Given the description of an element on the screen output the (x, y) to click on. 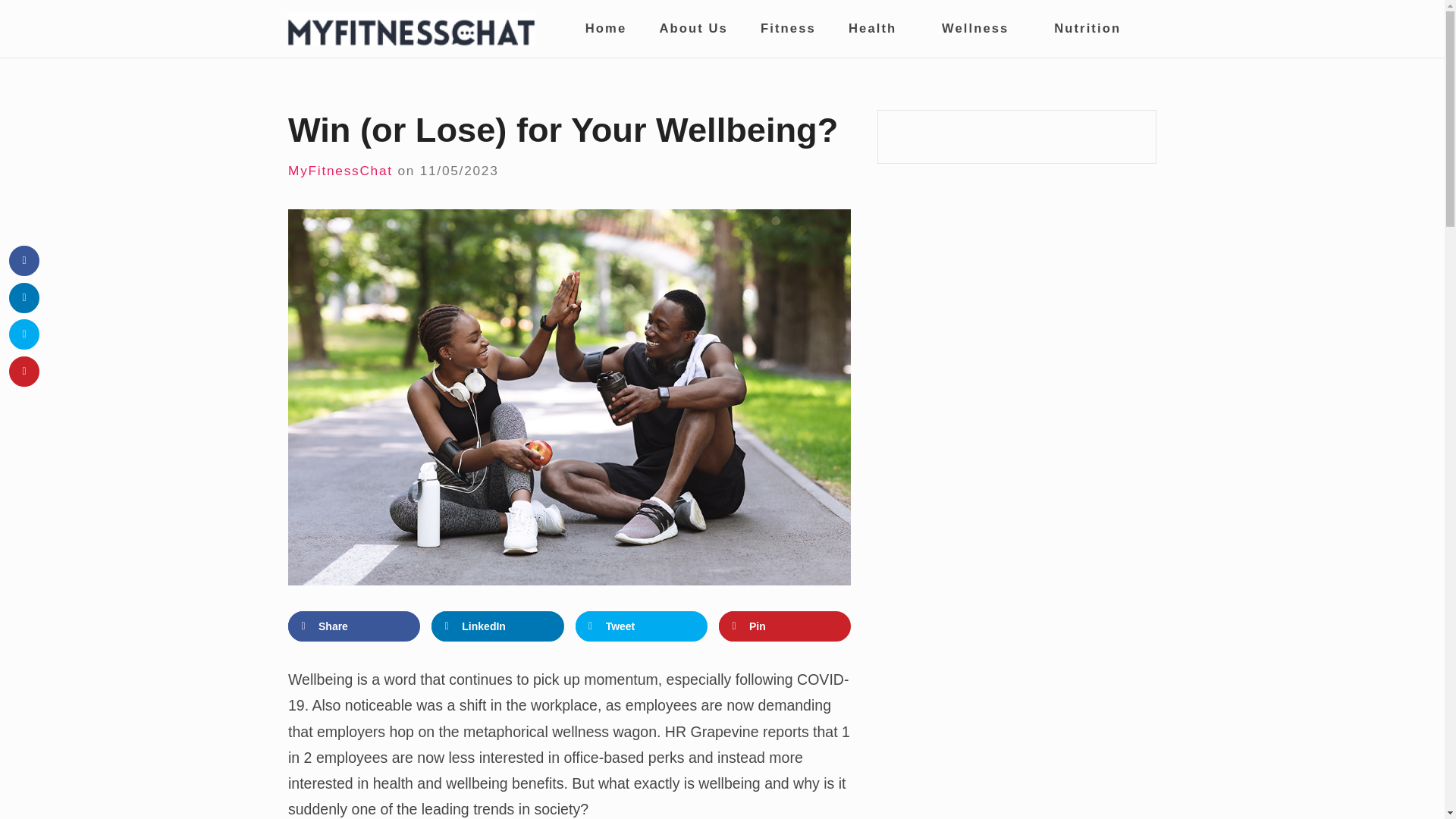
Nutrition (1087, 28)
Tweet (641, 625)
Home (605, 28)
SHOW SECONDARY SIDEBAR (1150, 29)
Wellness (981, 28)
About Us (693, 28)
Pin (784, 625)
Fitness (787, 28)
LinkedIn (496, 625)
